Given the description of an element on the screen output the (x, y) to click on. 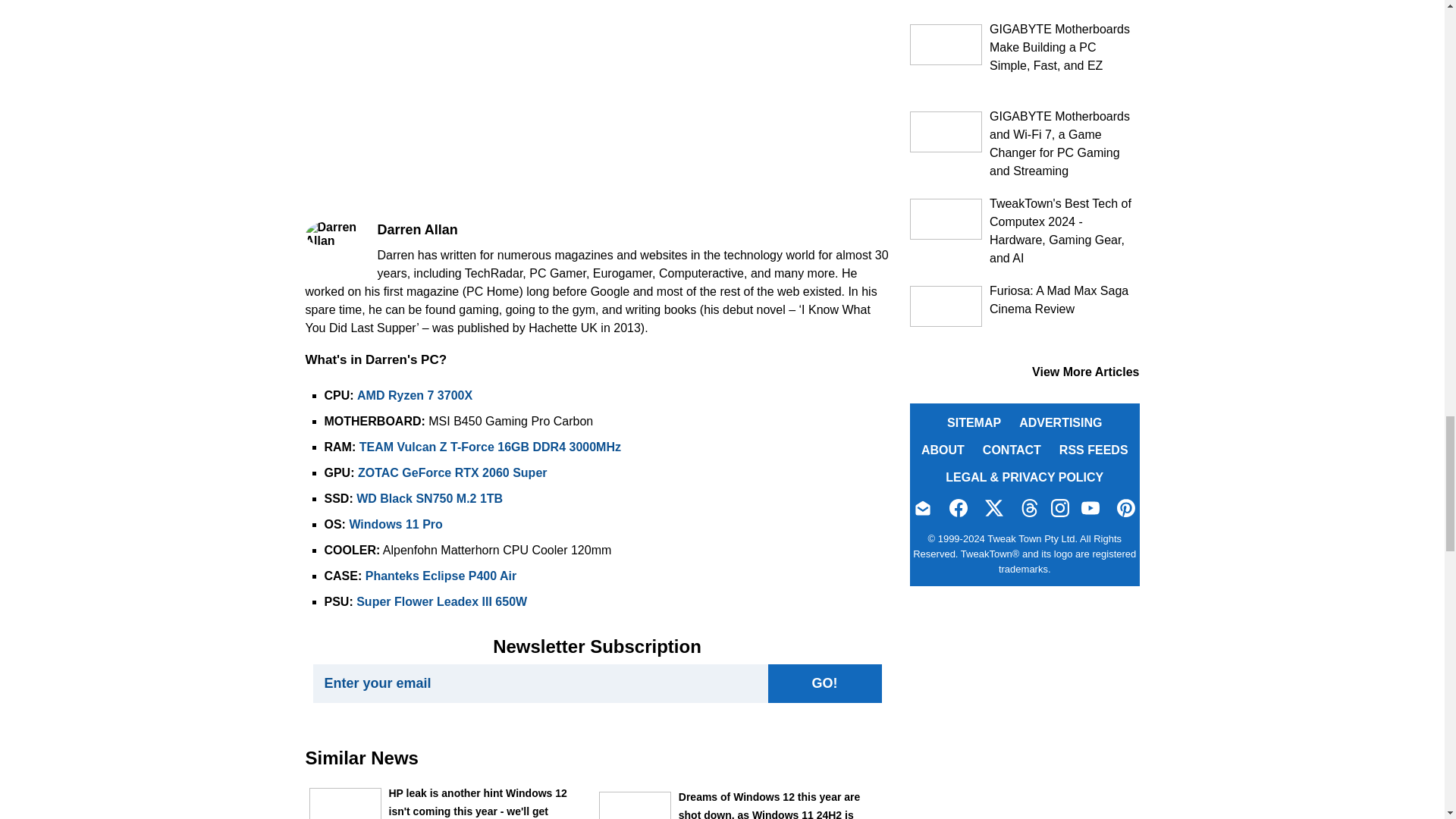
GO! (823, 683)
